Given the description of an element on the screen output the (x, y) to click on. 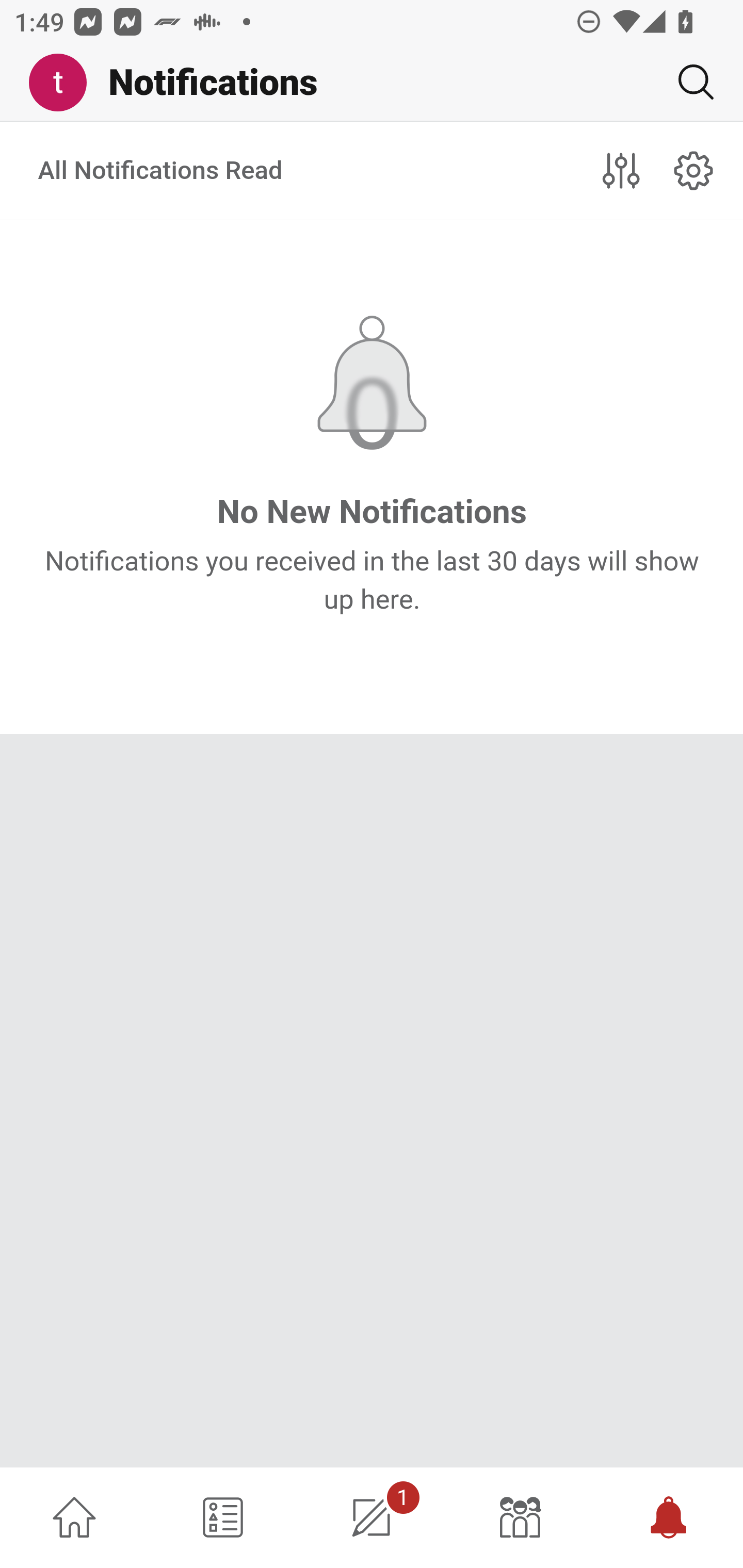
Me Notifications Search (371, 82)
Me (64, 83)
Search (688, 82)
All Notifications Read (160, 171)
notifications# (693, 170)
1 (371, 1517)
